Given the description of an element on the screen output the (x, y) to click on. 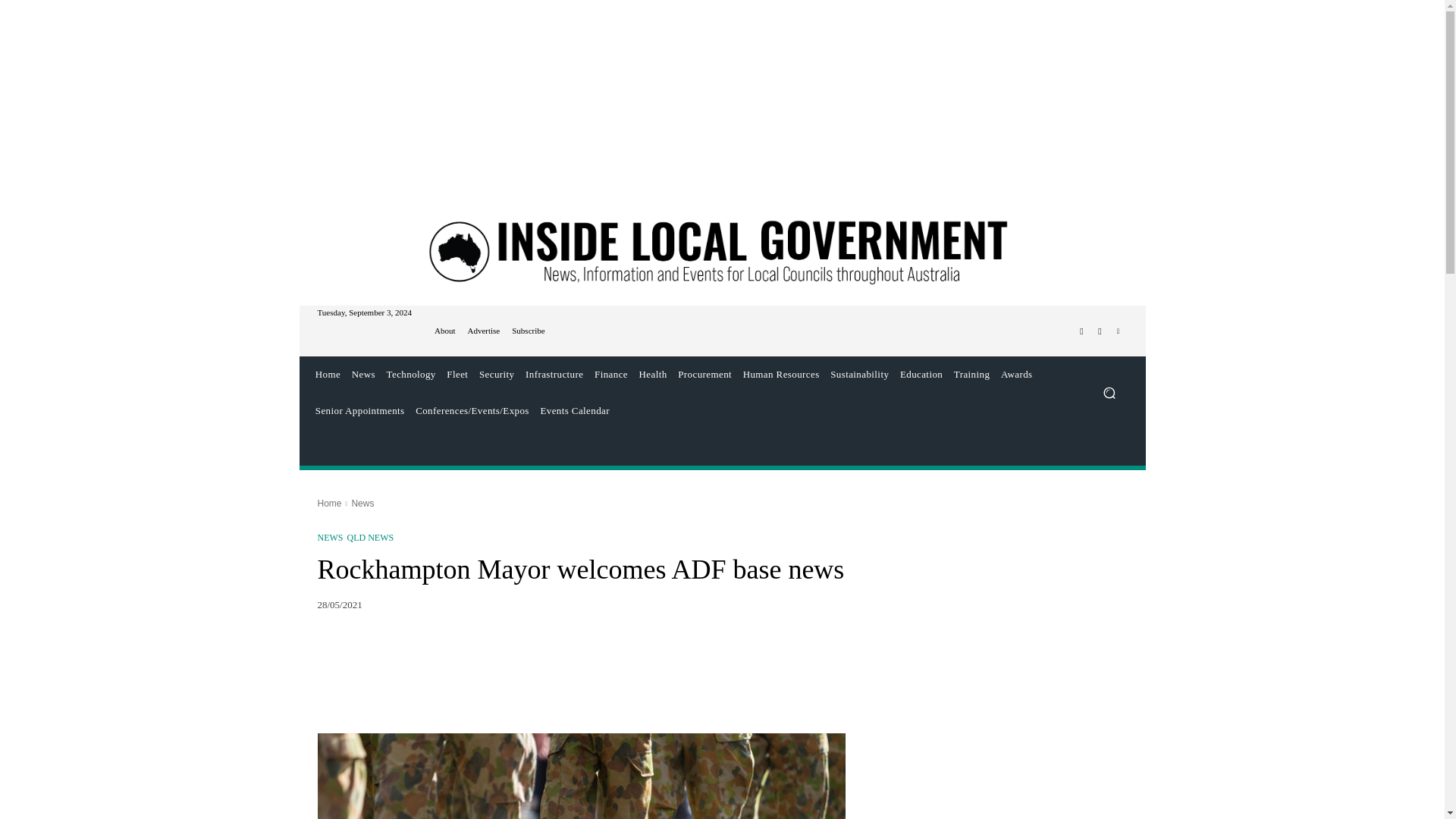
Advertise (483, 330)
About (444, 330)
Linkedin (1117, 331)
View all posts in News (362, 502)
Facebook (1080, 331)
Subscribe (528, 330)
Twitter (1099, 331)
Home (327, 374)
News (363, 374)
